Given the description of an element on the screen output the (x, y) to click on. 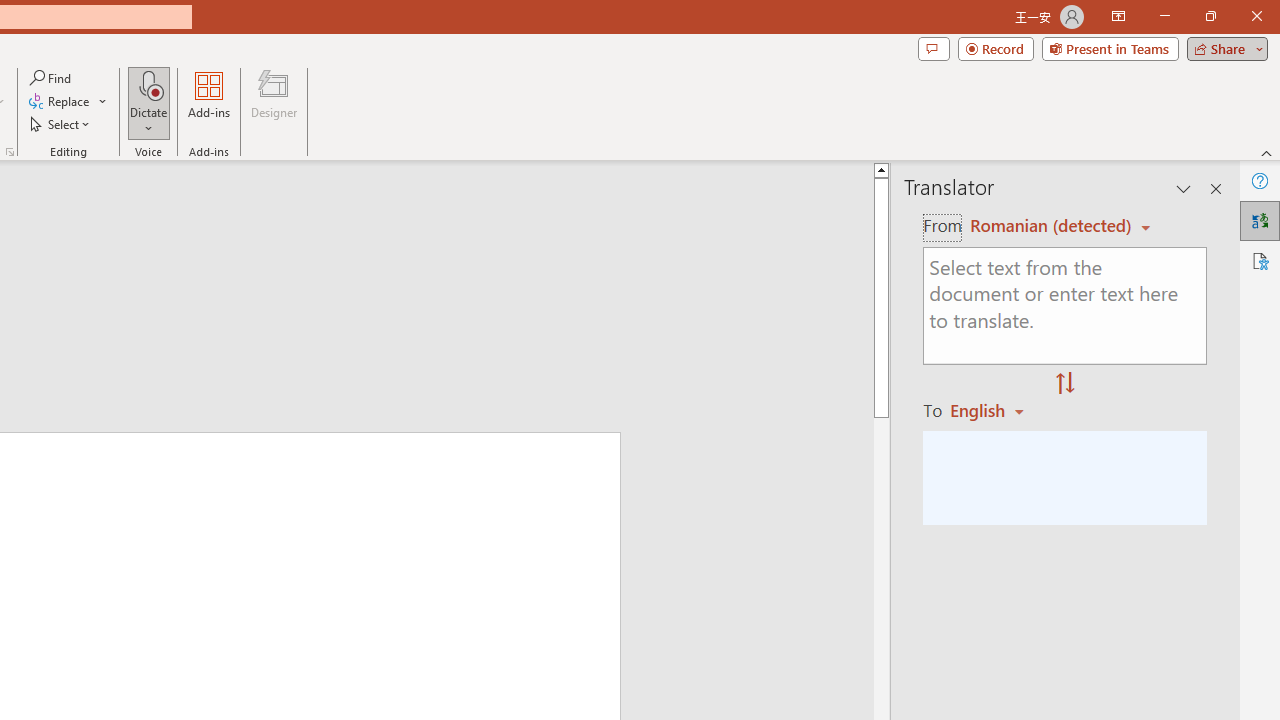
Task Pane Options (1183, 188)
Replace... (60, 101)
Romanian (994, 409)
Accessibility (1260, 260)
Format Object... (9, 151)
